Given the description of an element on the screen output the (x, y) to click on. 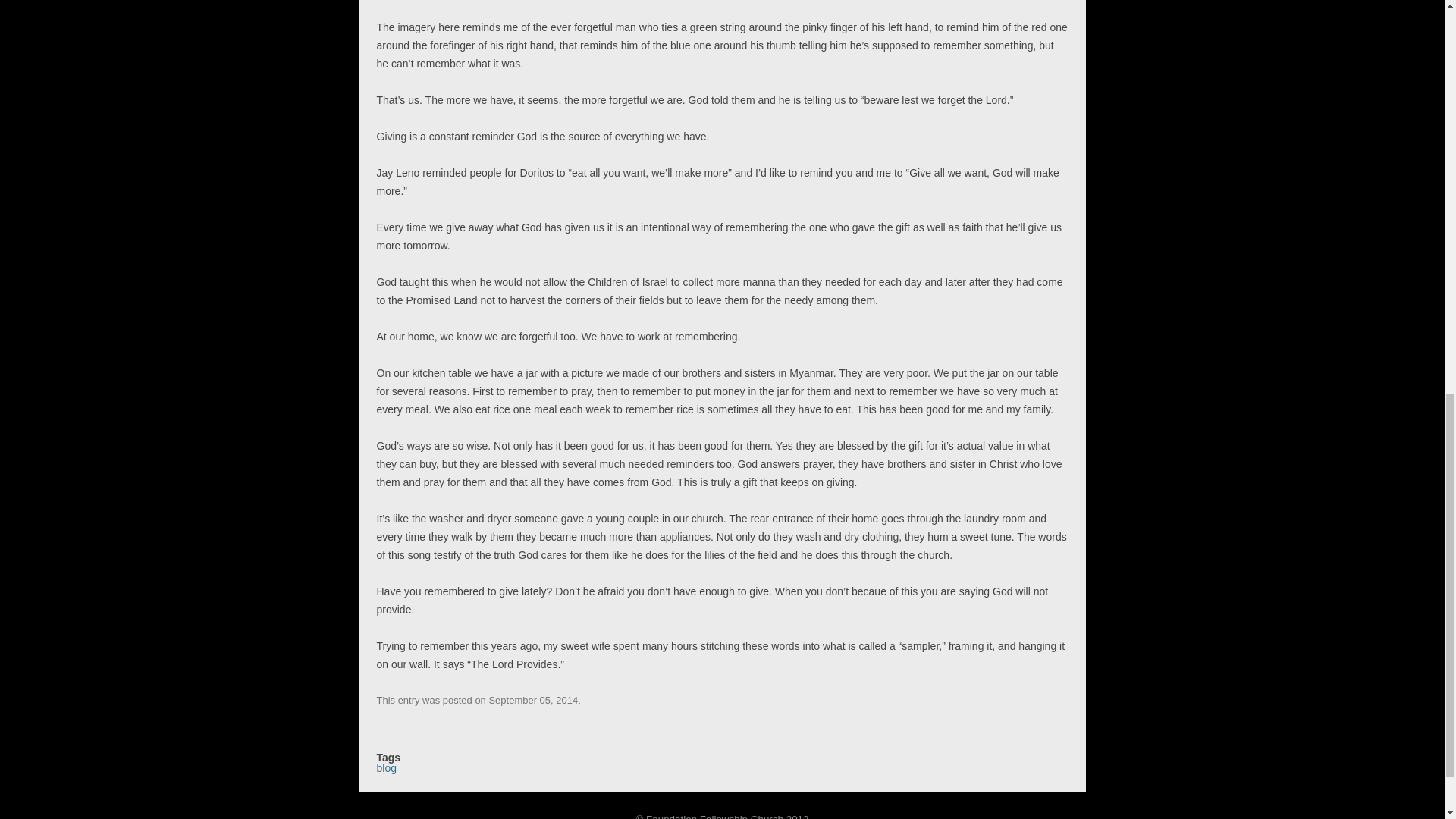
blog (385, 767)
